Given the description of an element on the screen output the (x, y) to click on. 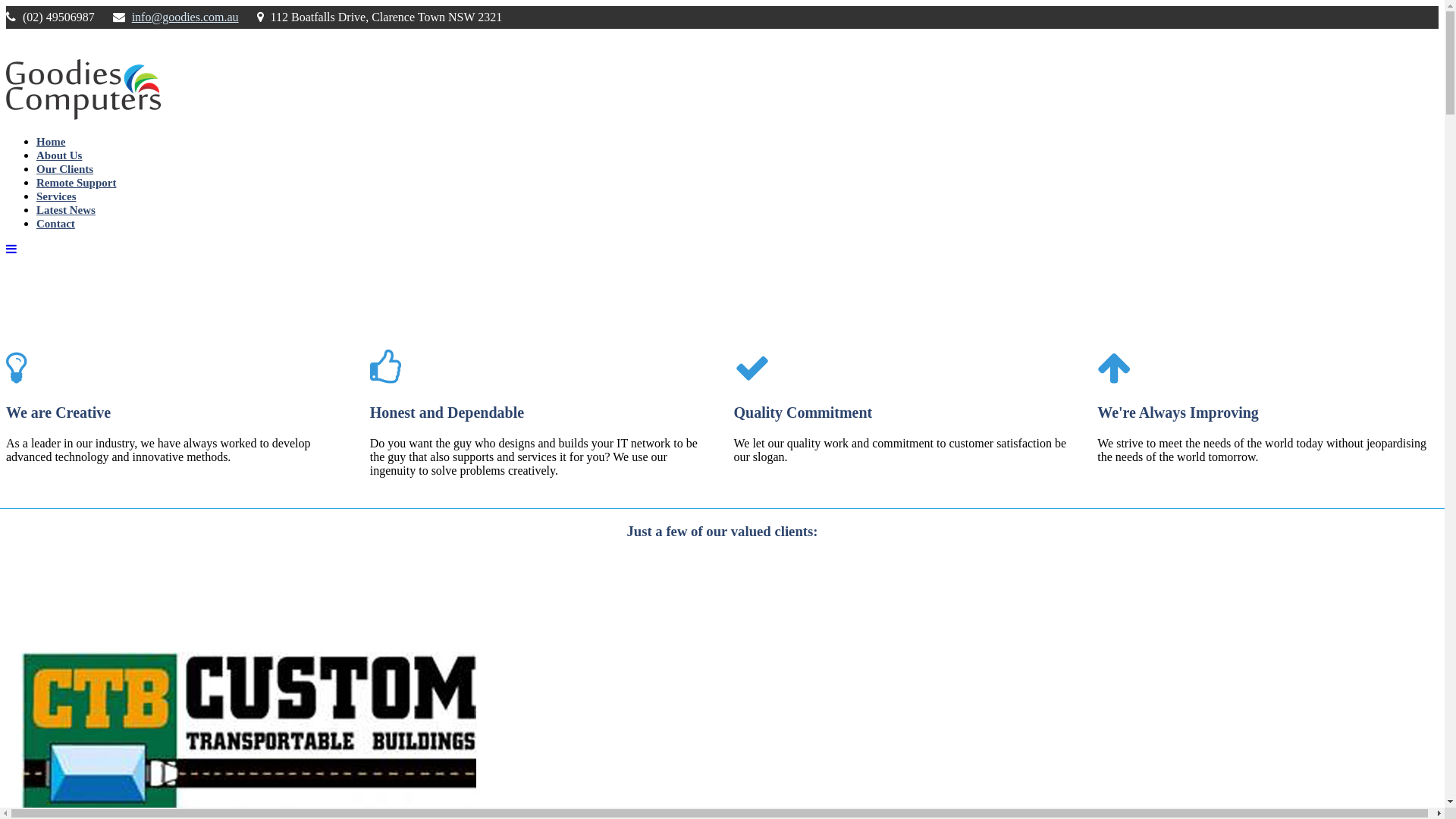
About Us Element type: text (58, 155)
Remote Support Element type: text (76, 182)
Services Element type: text (55, 196)
Our Clients Element type: text (64, 169)
Home Element type: text (50, 141)
Goodies Computers Element type: hover (83, 115)
Contact Element type: text (55, 223)
info@goodies.com.au Element type: text (184, 16)
Latest News Element type: text (65, 209)
